Given the description of an element on the screen output the (x, y) to click on. 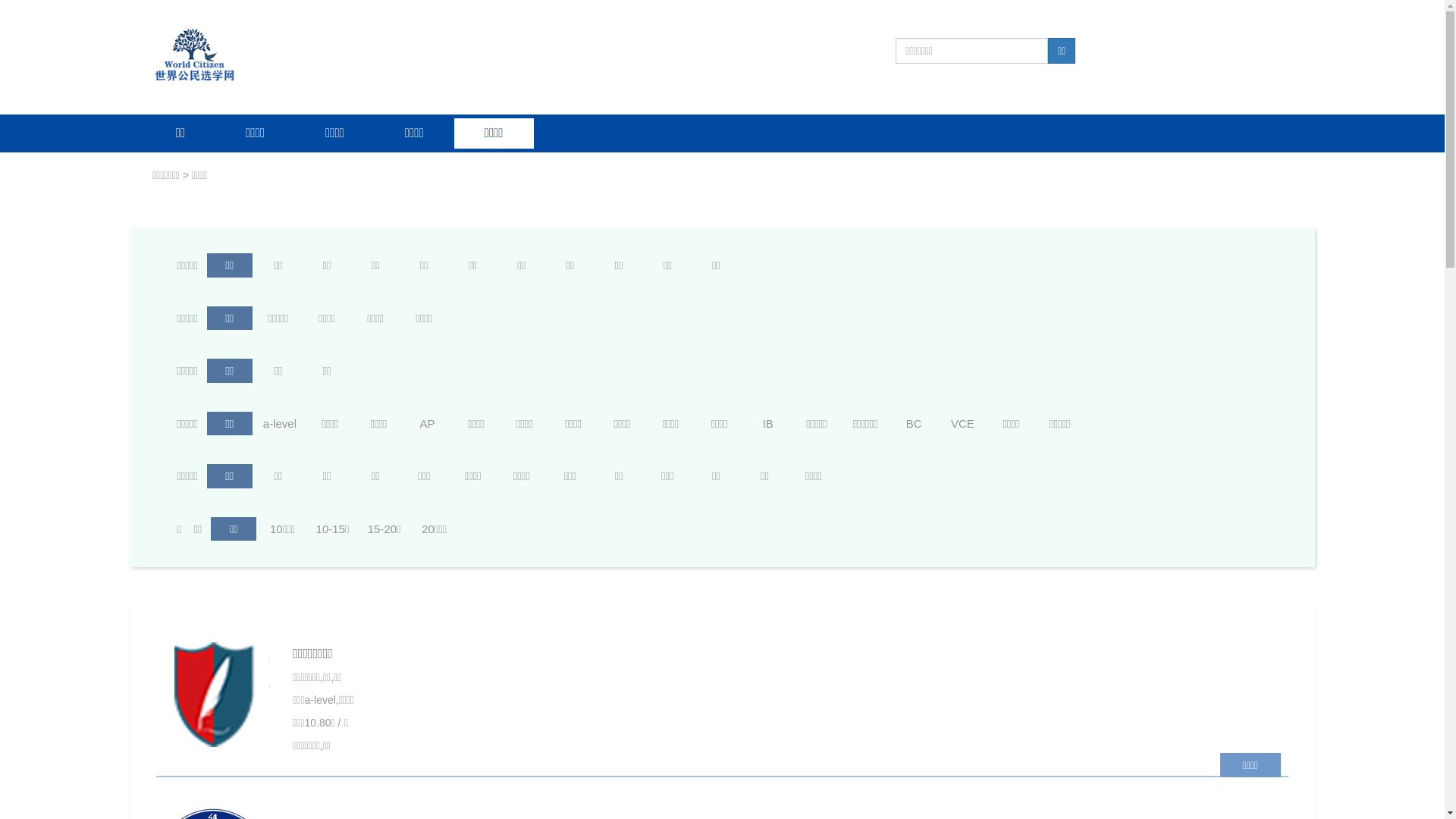
BC Element type: text (913, 423)
AP Element type: text (427, 423)
a-level Element type: text (279, 423)
IB Element type: text (767, 423)
VCE Element type: text (962, 423)
